Given the description of an element on the screen output the (x, y) to click on. 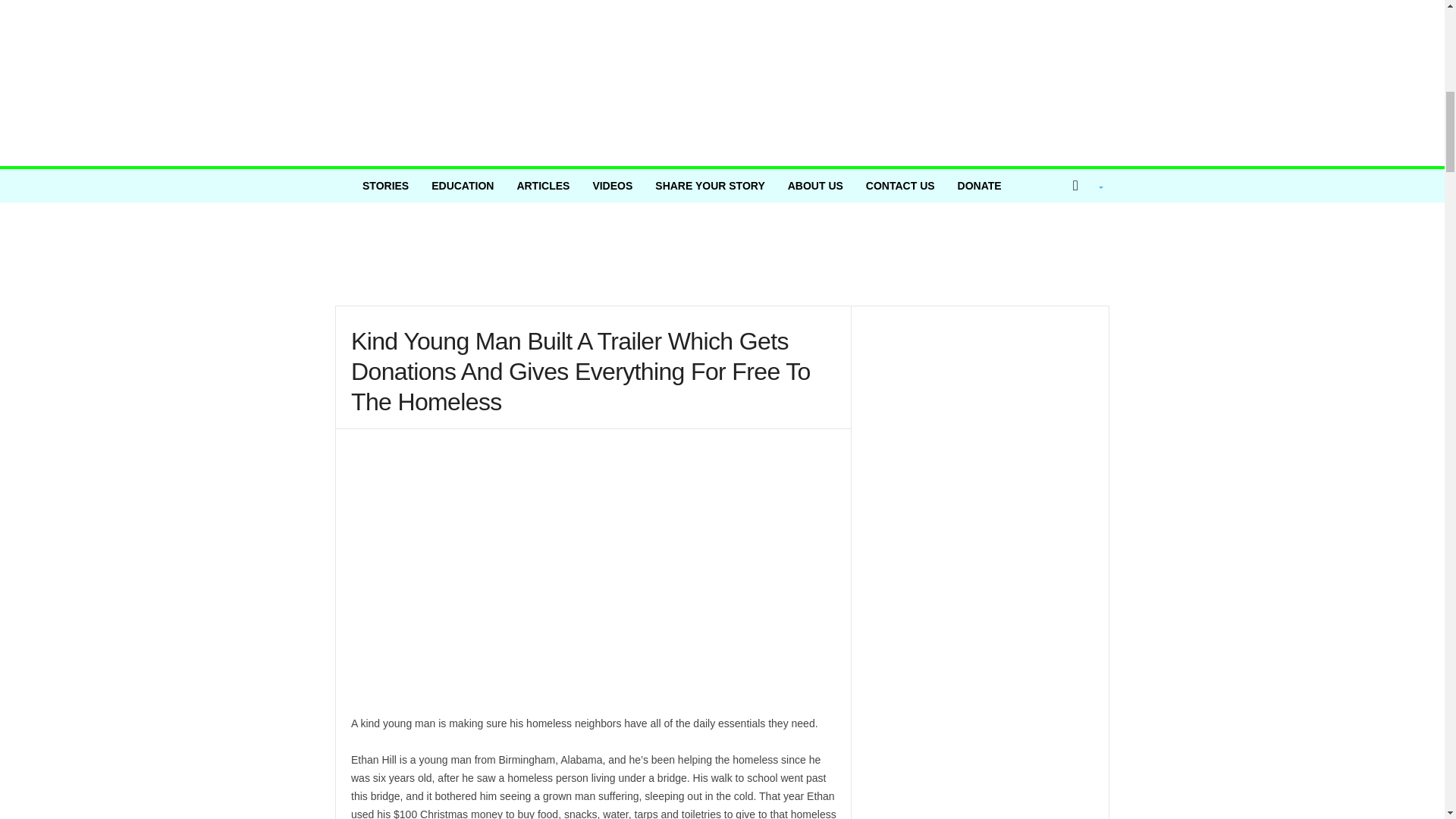
STORIES (385, 185)
ARTICLES (542, 185)
EDUCATION (462, 185)
